Given the description of an element on the screen output the (x, y) to click on. 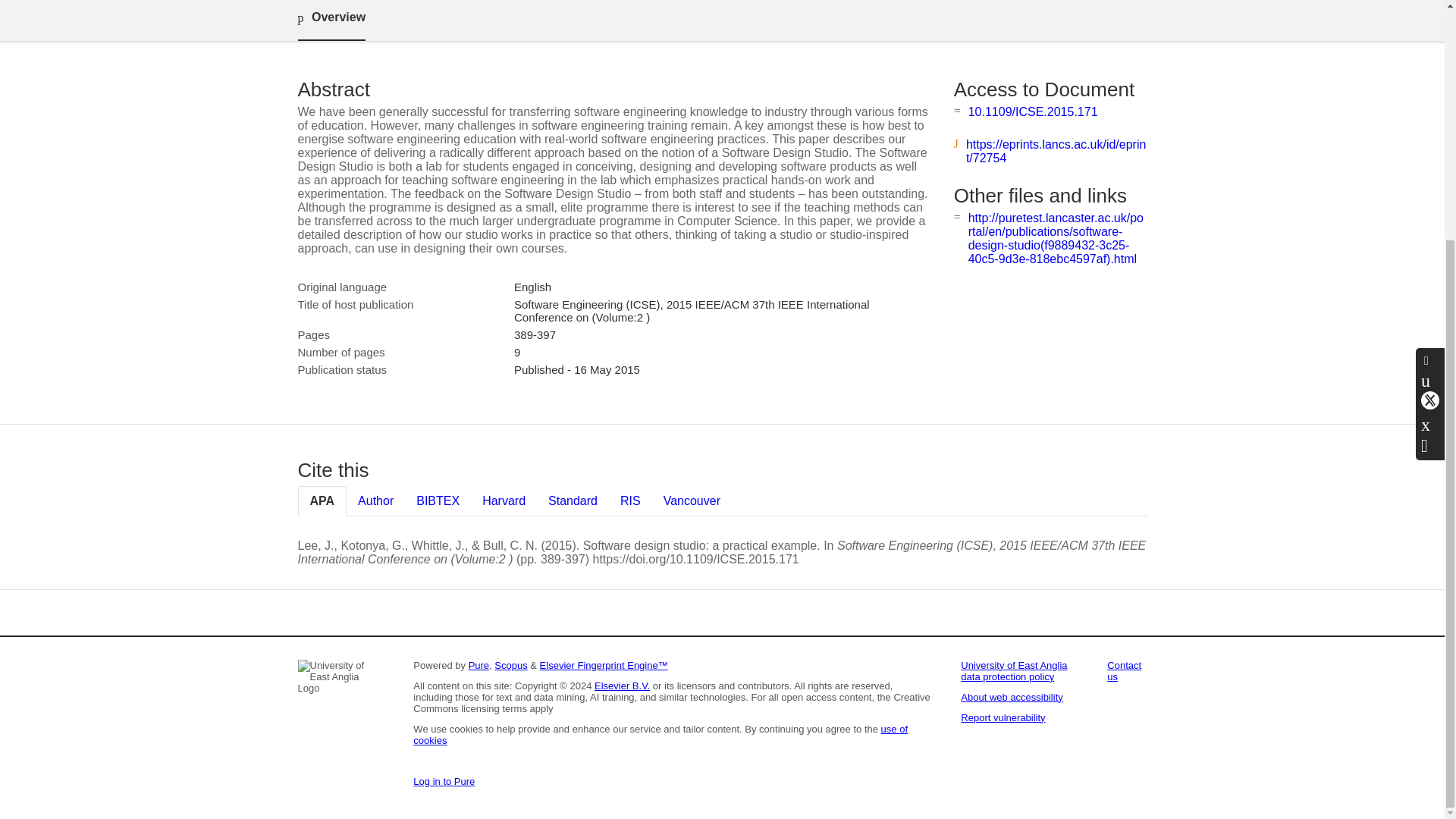
Overview (331, 20)
Contact us (1123, 671)
Report vulnerability (1002, 717)
use of cookies (660, 734)
Scopus (511, 665)
Elsevier B.V. (621, 685)
Pure (478, 665)
Log in to Pure (443, 781)
University of East Anglia data protection policy (1013, 671)
About web accessibility (1011, 696)
